Given the description of an element on the screen output the (x, y) to click on. 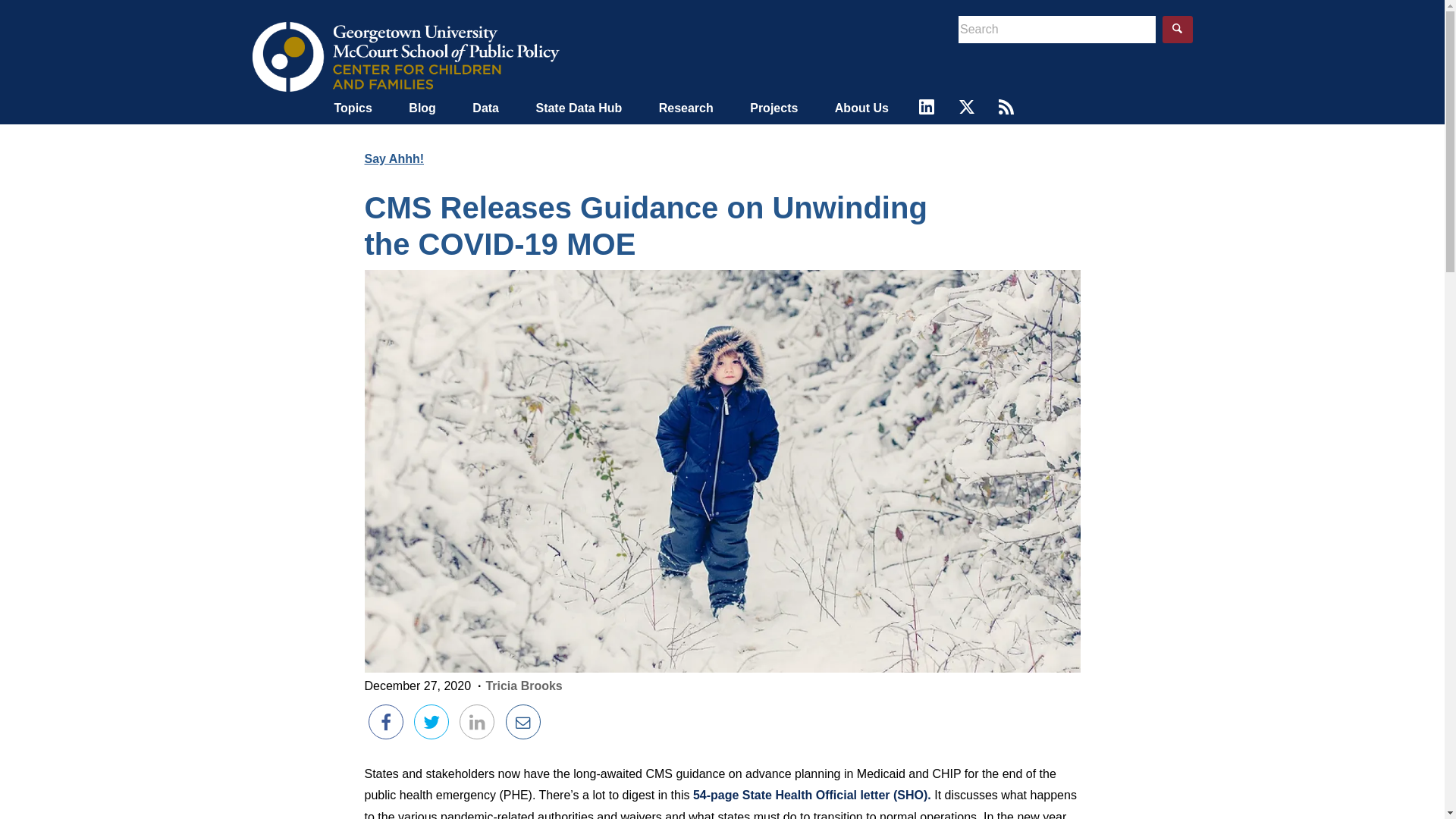
Data (485, 113)
About Us (861, 113)
Projects (773, 113)
Blog (422, 113)
Georgetown Center for Children and Families Homepage (405, 56)
LinkedIn (926, 106)
Topics (352, 113)
RSS (1005, 106)
X (966, 106)
Research (686, 113)
